Given the description of an element on the screen output the (x, y) to click on. 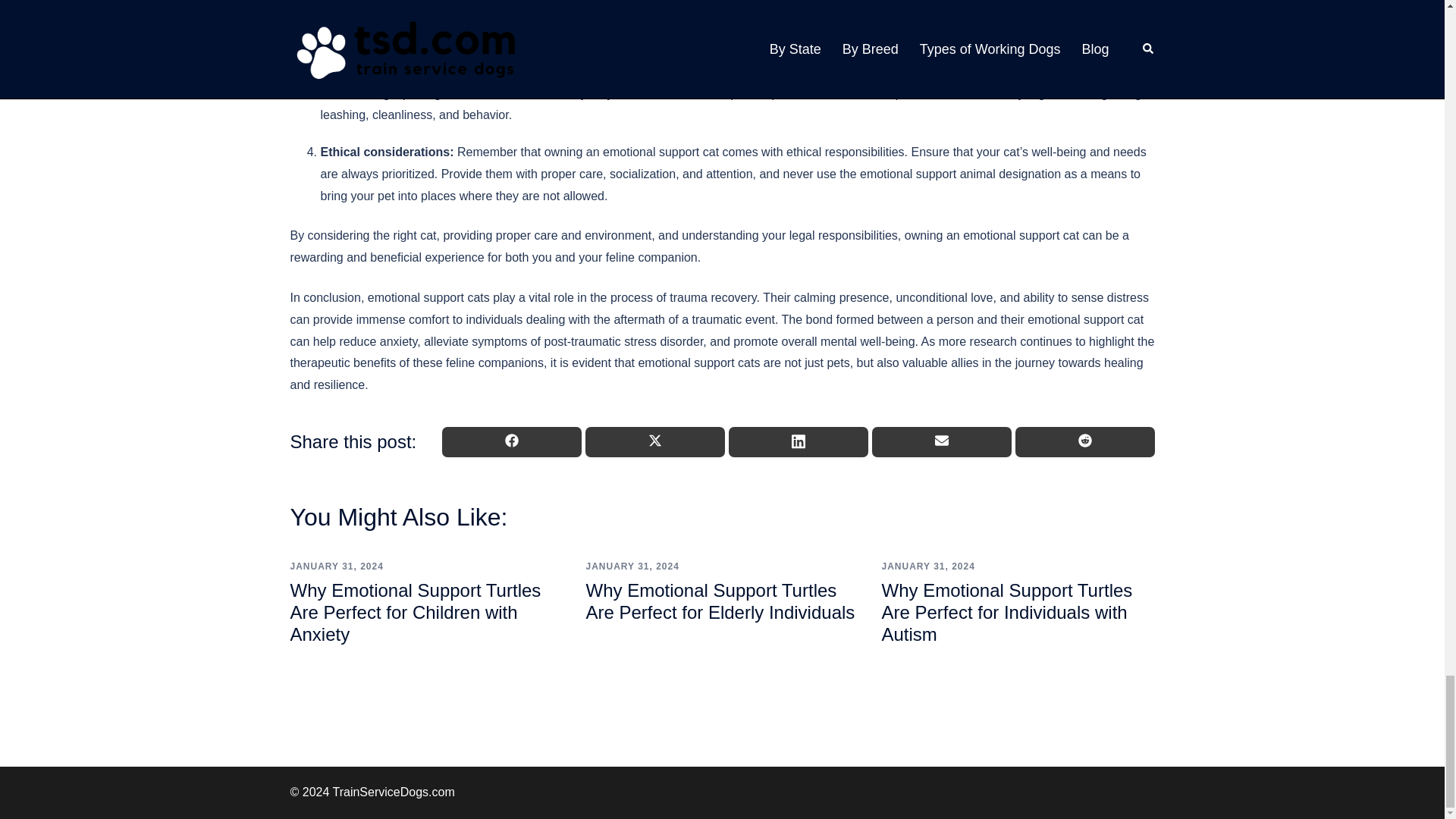
JANUARY 31, 2024 (631, 566)
JANUARY 31, 2024 (927, 566)
JANUARY 31, 2024 (335, 566)
